Given the description of an element on the screen output the (x, y) to click on. 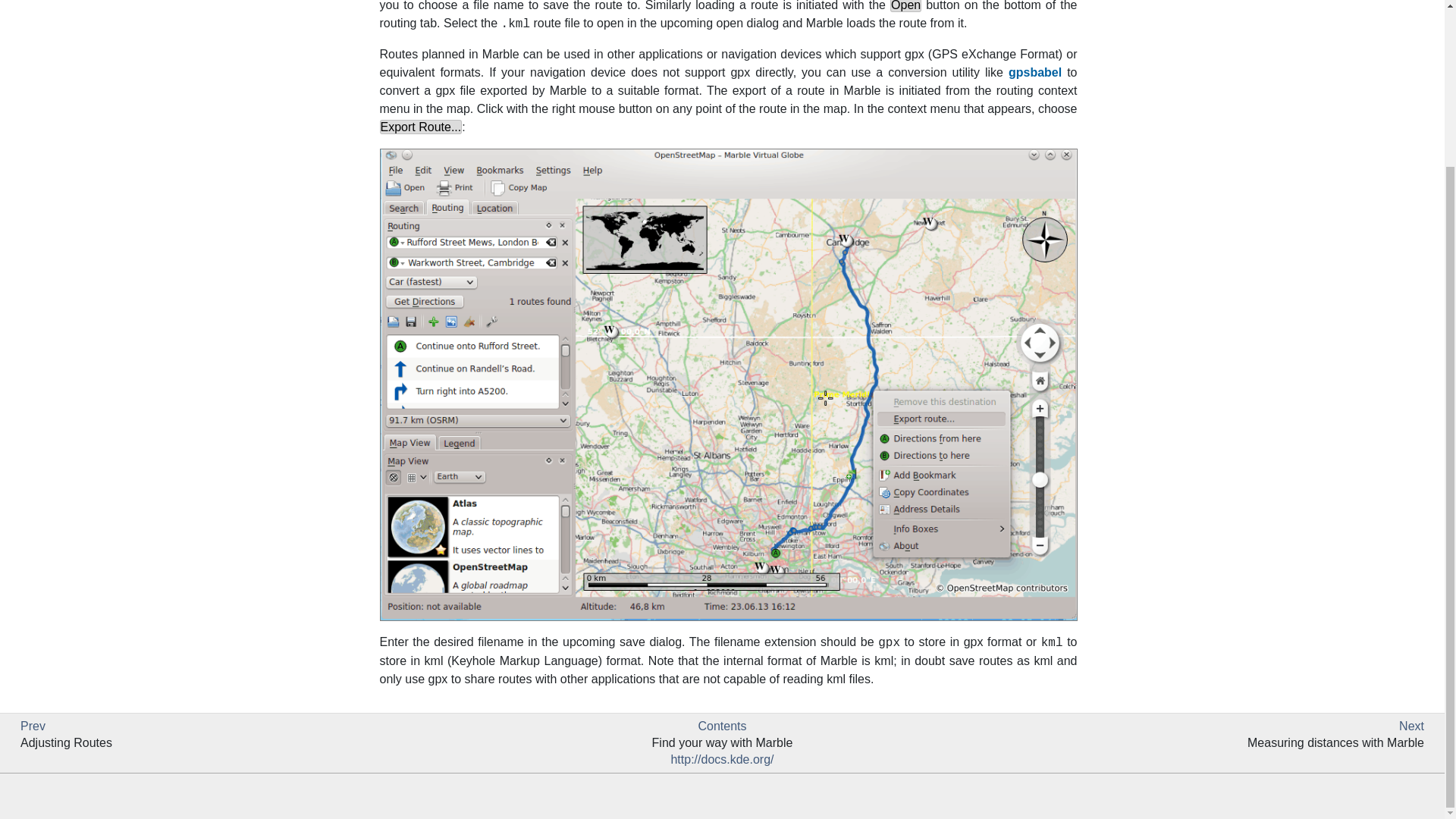
Next (1411, 725)
Contents (721, 725)
Prev (32, 725)
